Given the description of an element on the screen output the (x, y) to click on. 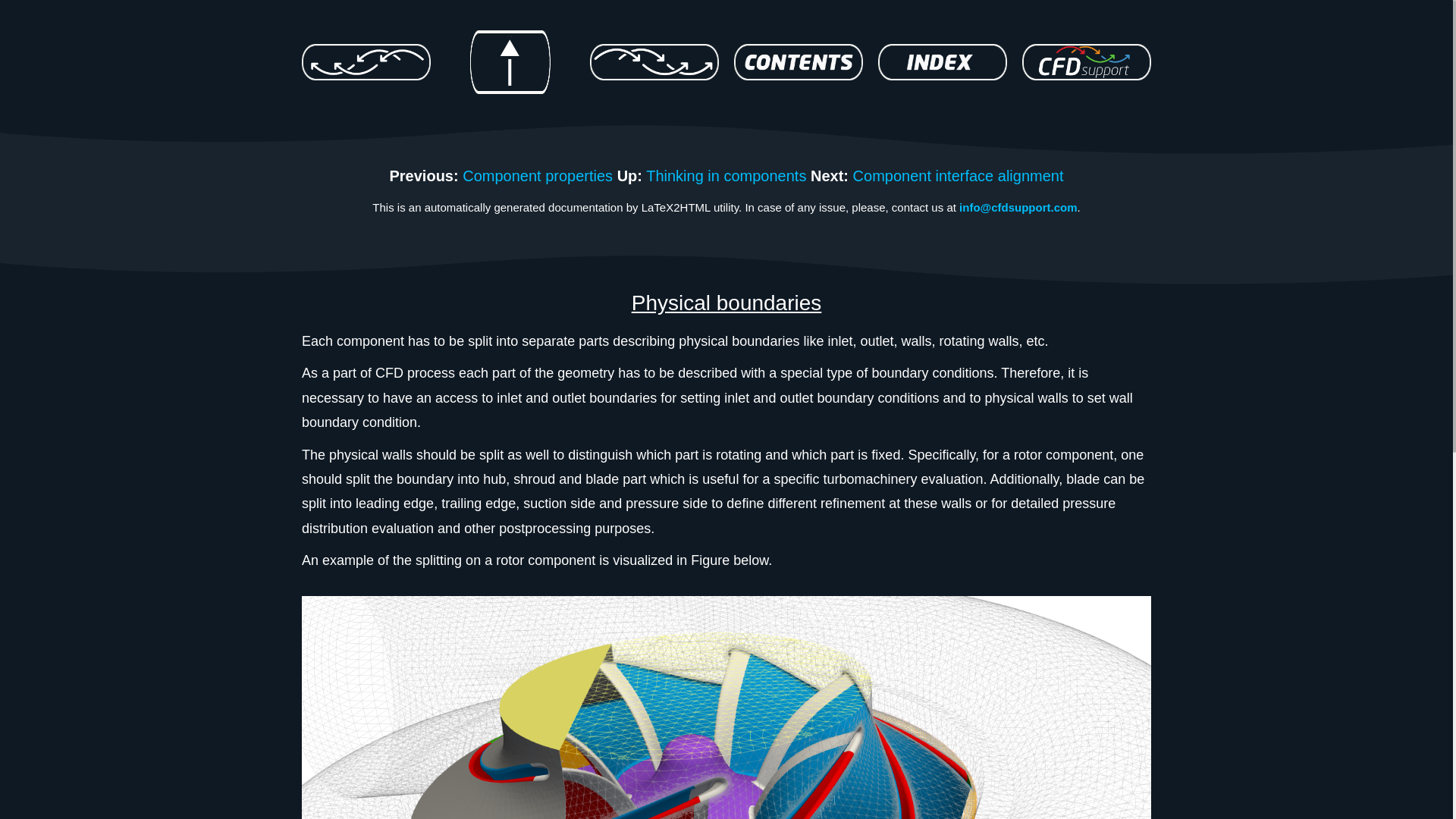
Node32 4 (798, 62)
Component properties (537, 175)
Node32 2 (510, 62)
Node32 6 (1086, 62)
Node32 3 (654, 62)
Thinking in components (726, 175)
Node32 1 (365, 62)
Component interface alignment (958, 175)
Node32 5 (942, 62)
